Given the description of an element on the screen output the (x, y) to click on. 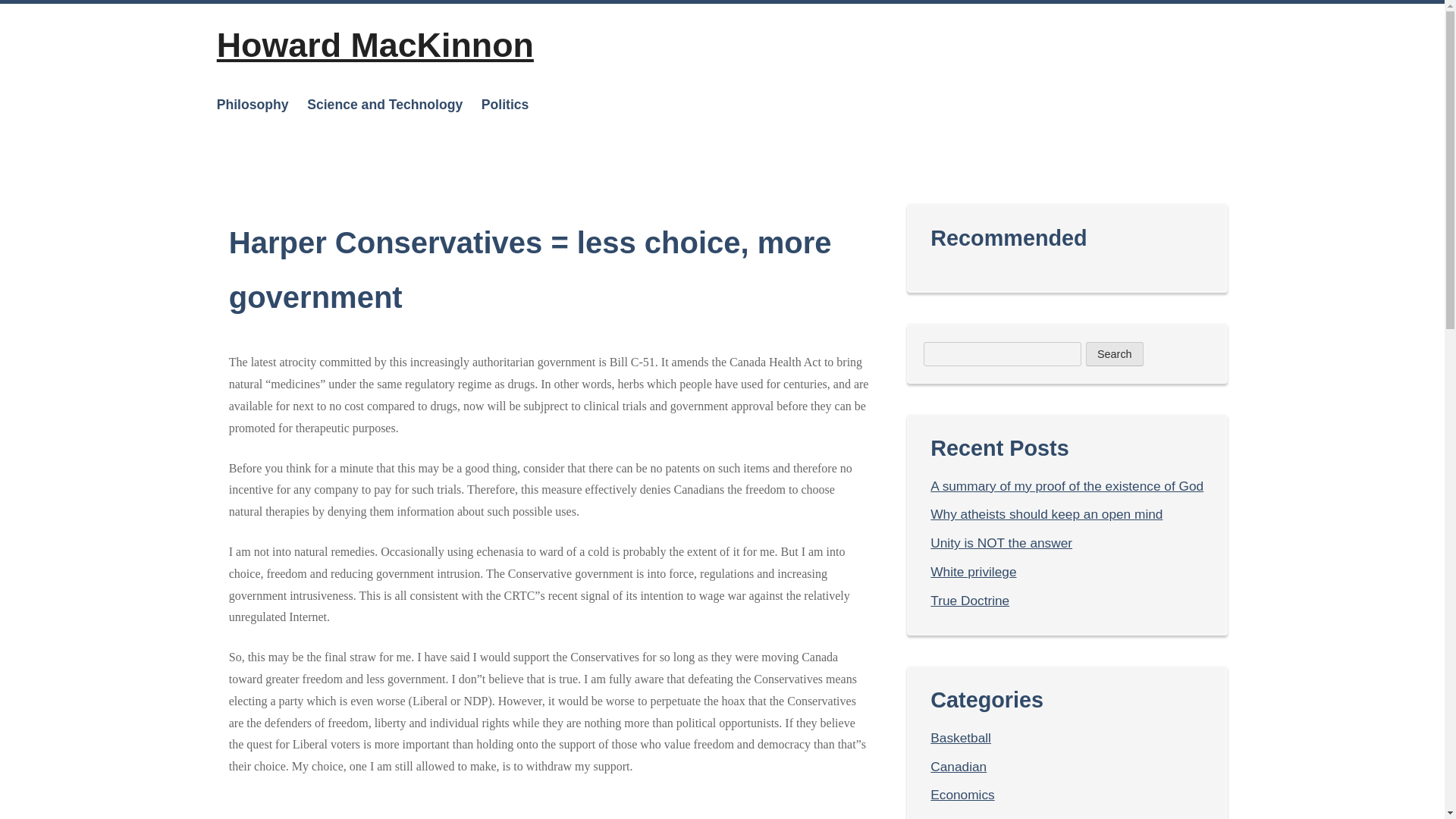
Unity is NOT the answer (1000, 542)
True Doctrine (969, 600)
Science and Technology (385, 104)
Howard MacKinnon (375, 44)
A summary of my proof of the existence of God (1067, 485)
Why atheists should keep an open mind (1045, 513)
Nova Scotia (534, 222)
General (953, 817)
Basketball (960, 737)
Canadian (534, 186)
Canadian (958, 766)
International (534, 149)
Economics (962, 794)
Theology (279, 149)
